Given the description of an element on the screen output the (x, y) to click on. 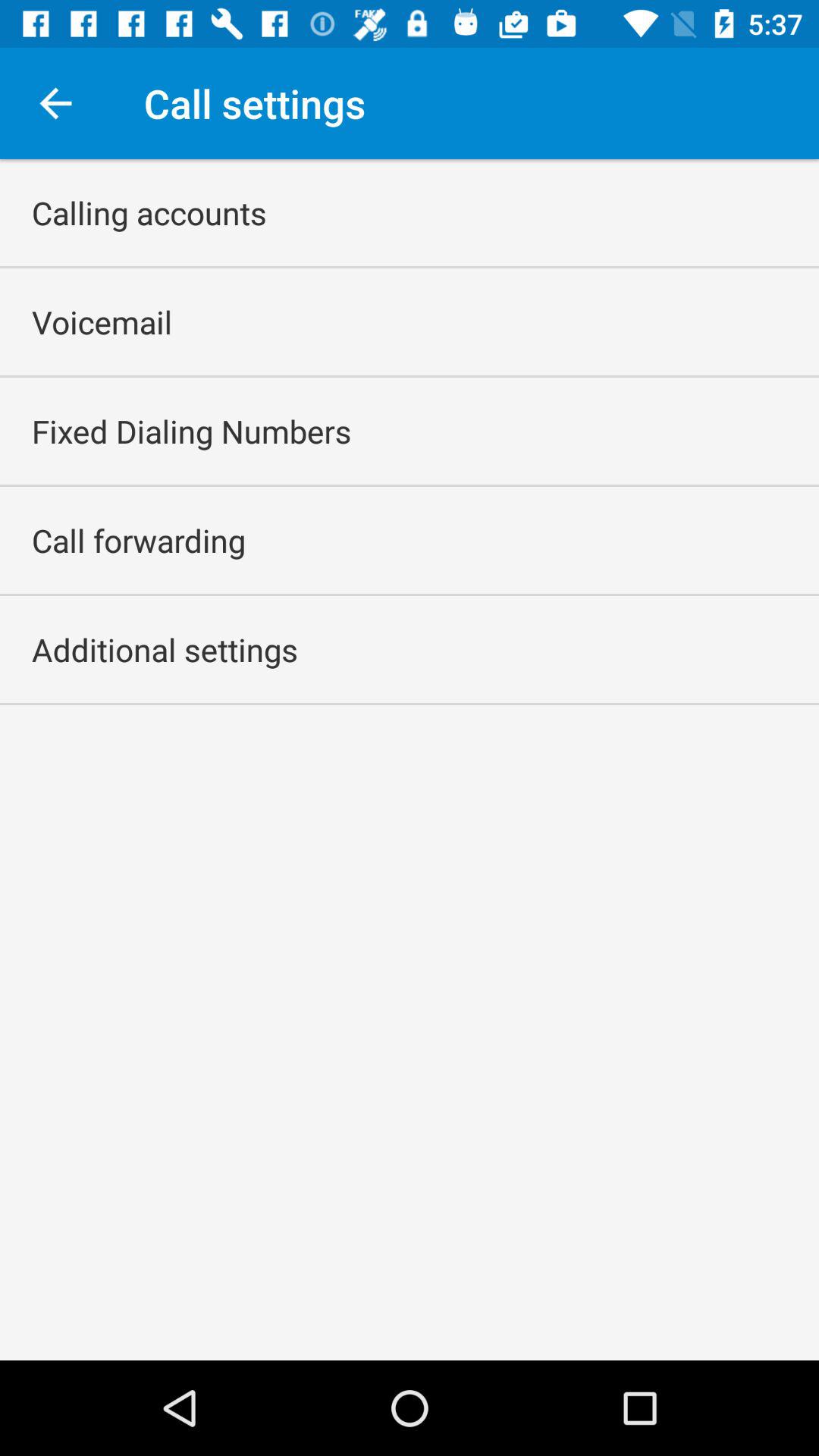
flip to the call forwarding app (138, 539)
